Given the description of an element on the screen output the (x, y) to click on. 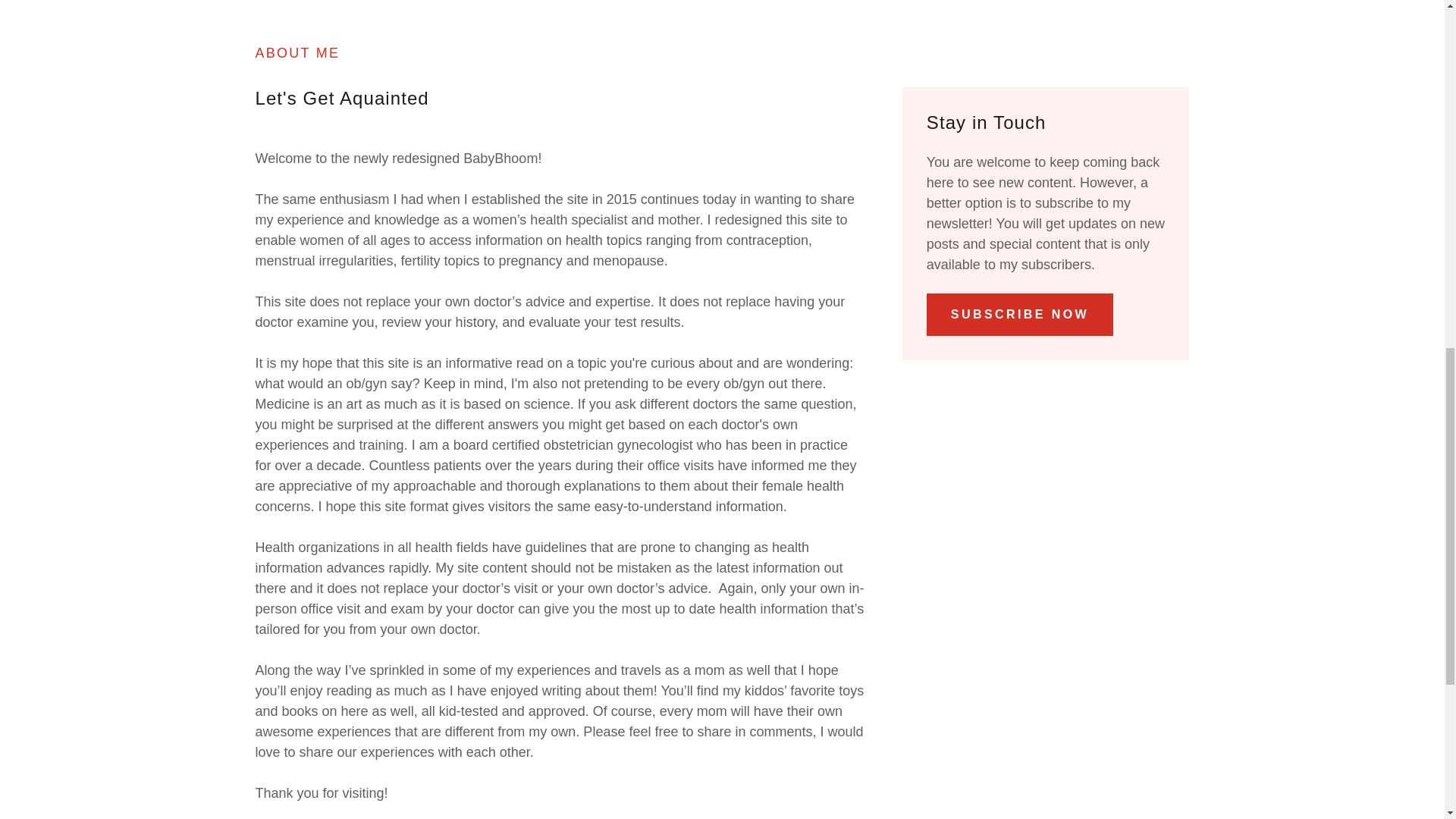
SUBSCRIBE NOW (1019, 314)
